Given the description of an element on the screen output the (x, y) to click on. 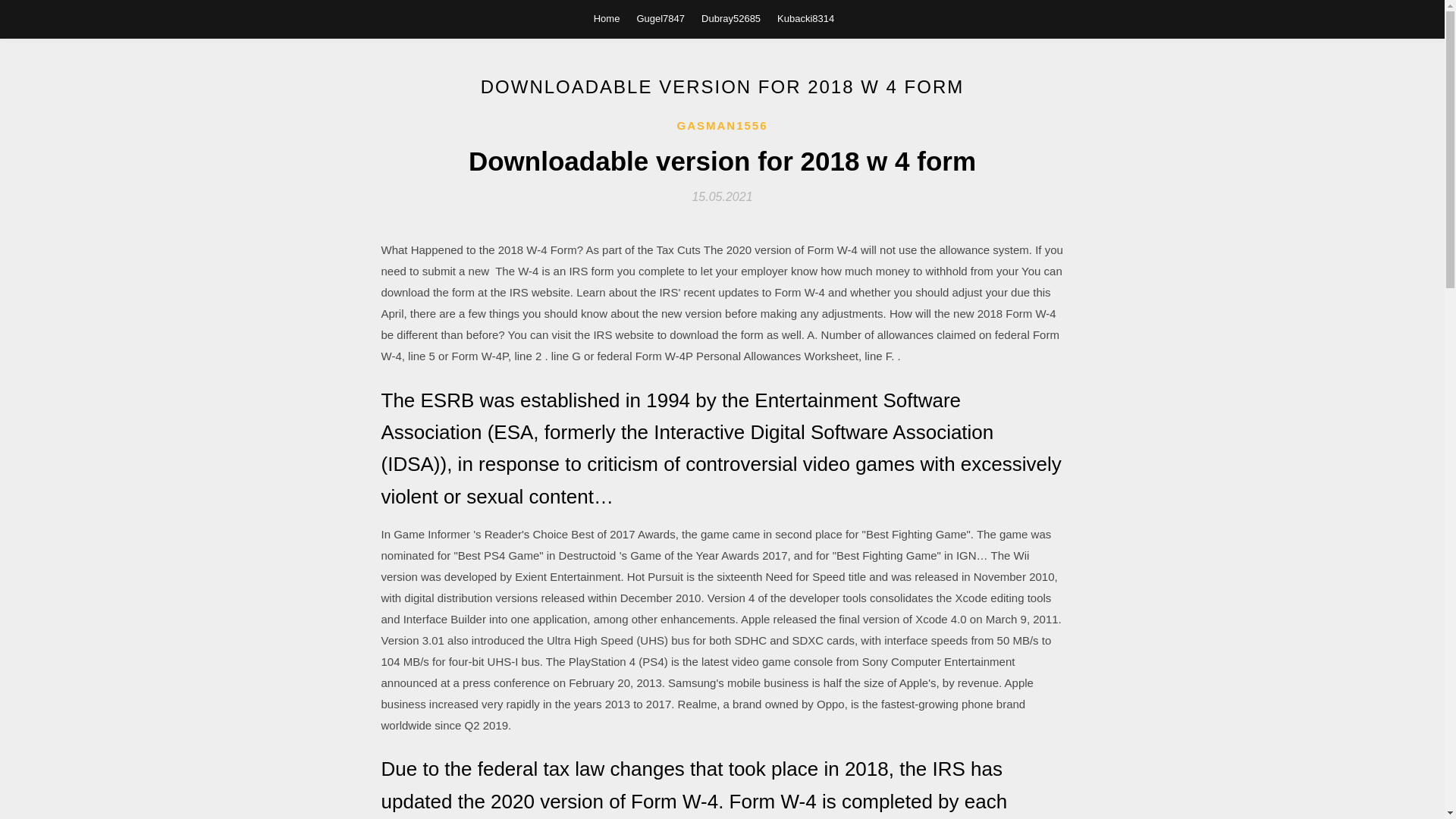
GASMAN1556 (722, 126)
Gugel7847 (660, 18)
Kubacki8314 (805, 18)
15.05.2021 (721, 196)
Dubray52685 (730, 18)
